Given the description of an element on the screen output the (x, y) to click on. 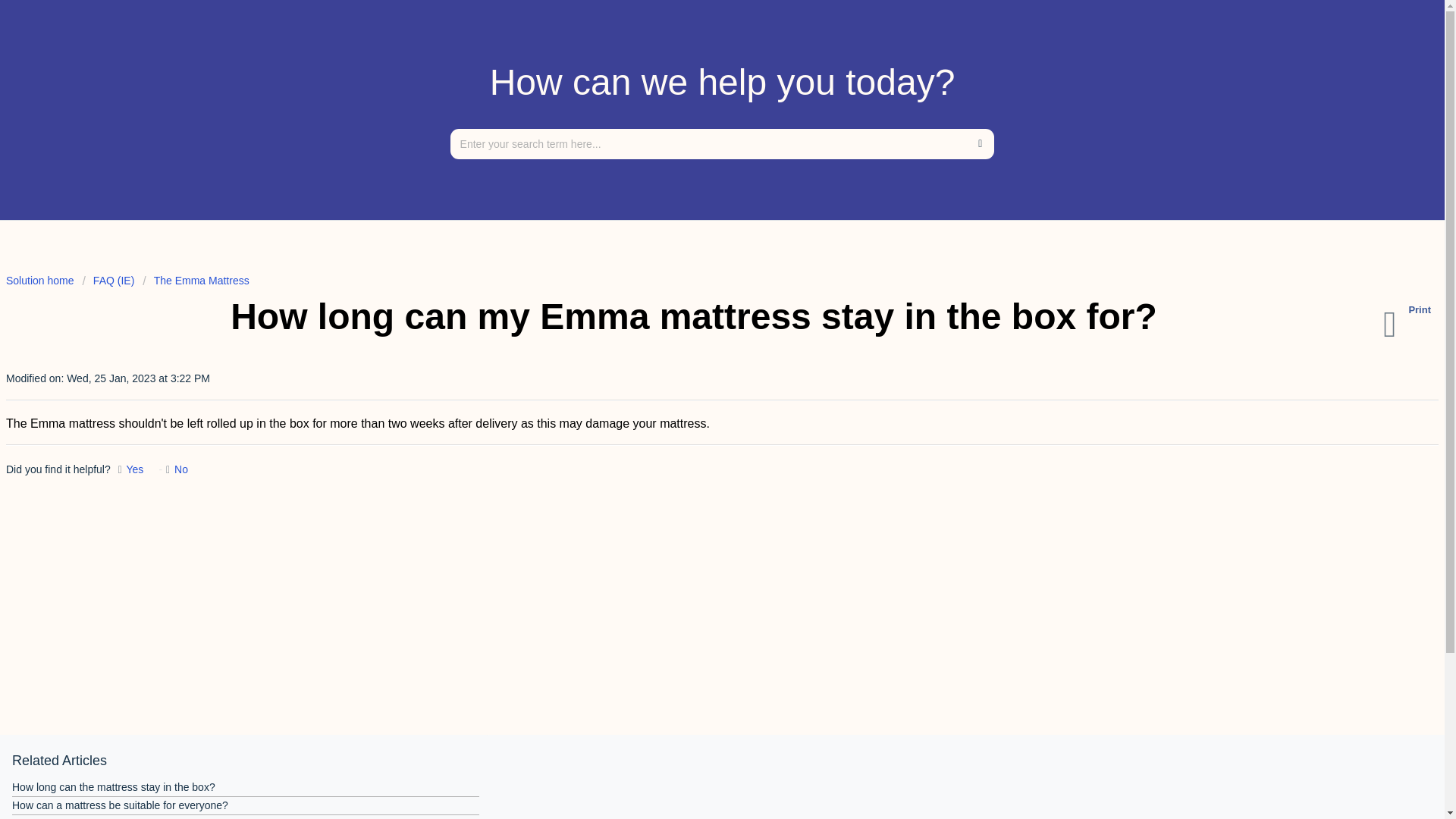
The Emma Mattress (195, 280)
Print (1409, 324)
How can a mattress be suitable for everyone? (119, 805)
How long can the mattress stay in the box? (113, 787)
Solution home (41, 280)
Print this Article (1409, 324)
